Given the description of an element on the screen output the (x, y) to click on. 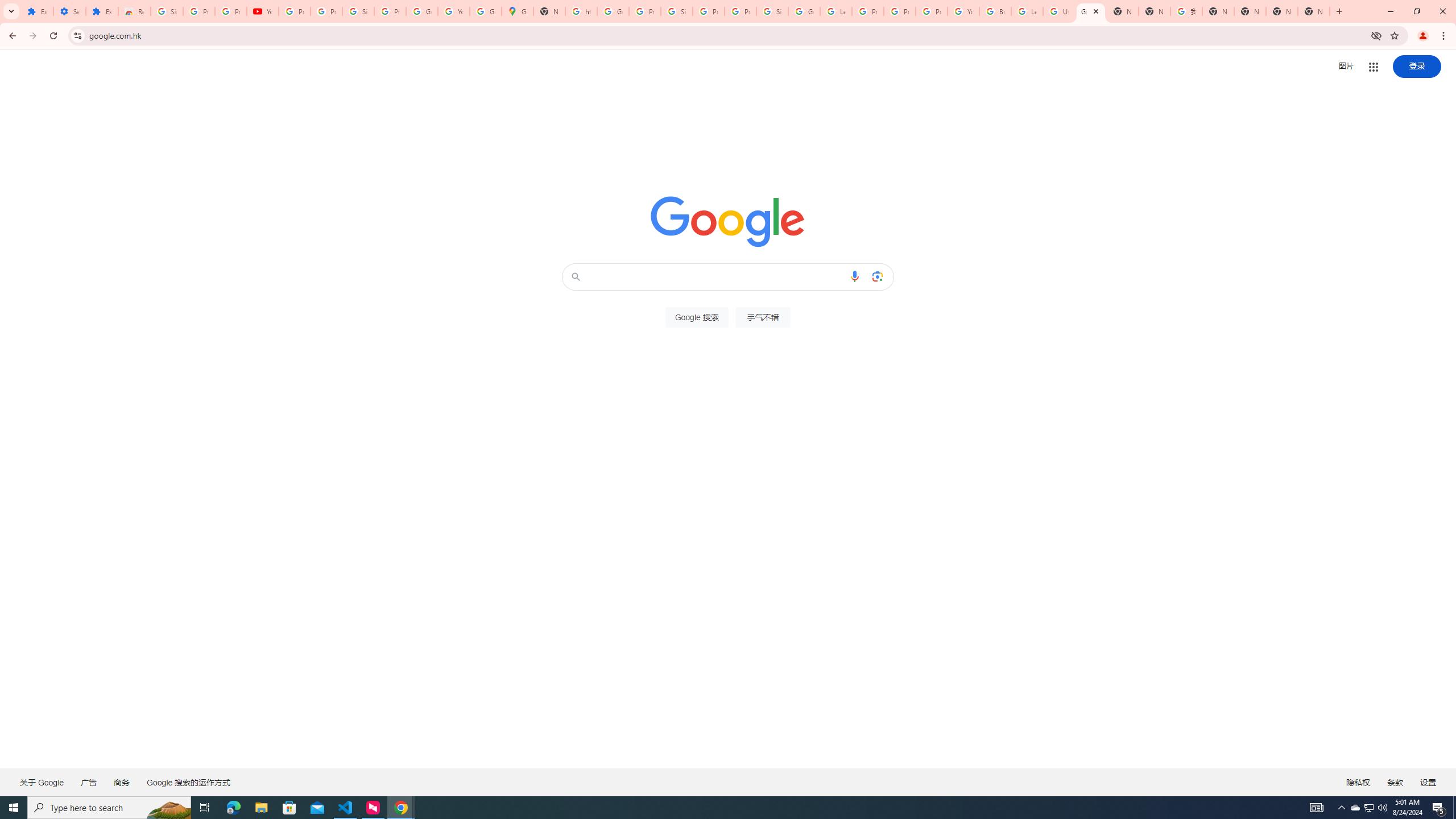
Sign in - Google Accounts (358, 11)
Privacy Help Center - Policies Help (899, 11)
Sign in - Google Accounts (772, 11)
